Given the description of an element on the screen output the (x, y) to click on. 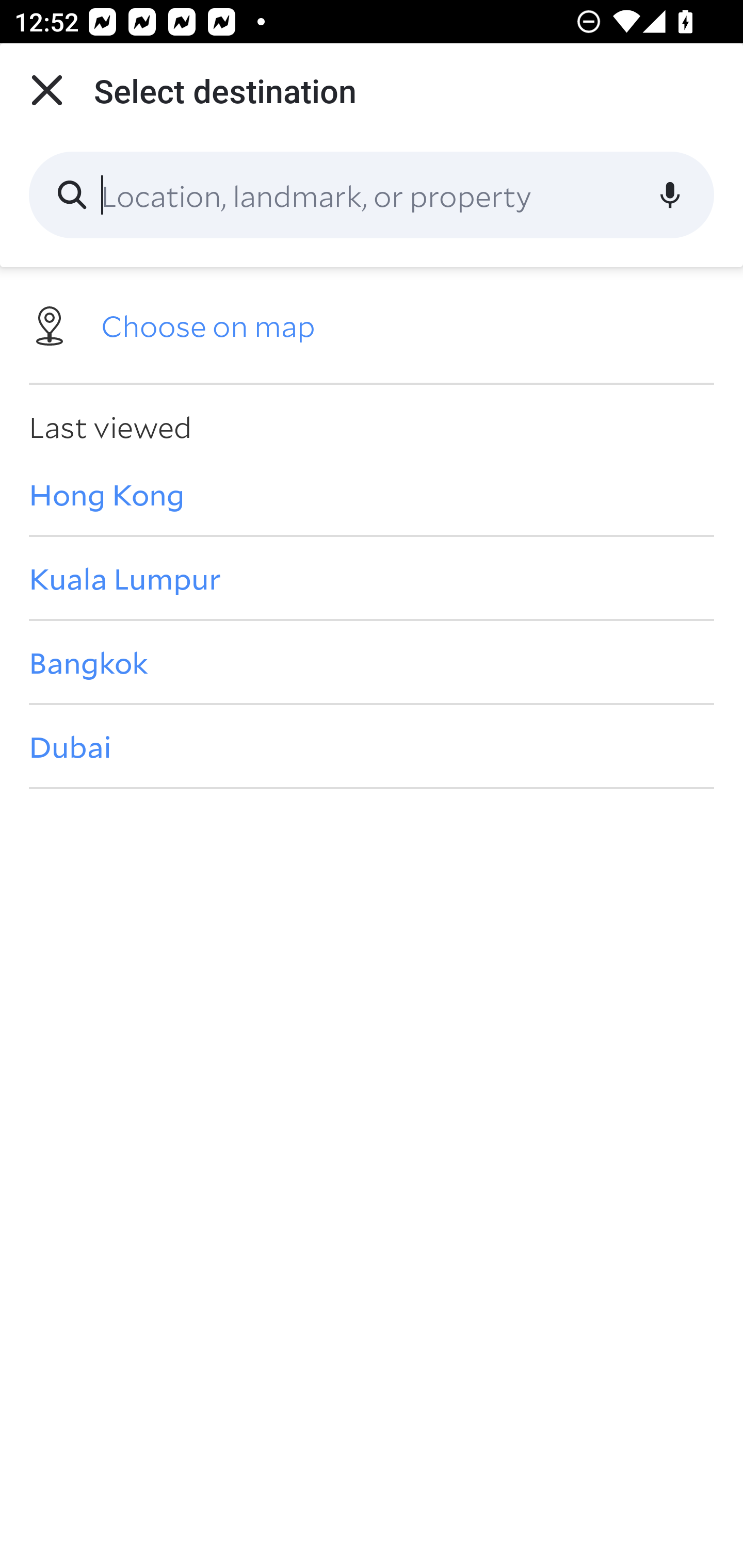
Location, landmark, or property (371, 195)
Choose on map (371, 324)
Hong Kong (371, 493)
Kuala Lumpur (371, 577)
Bangkok (371, 661)
Dubai (371, 746)
